Given the description of an element on the screen output the (x, y) to click on. 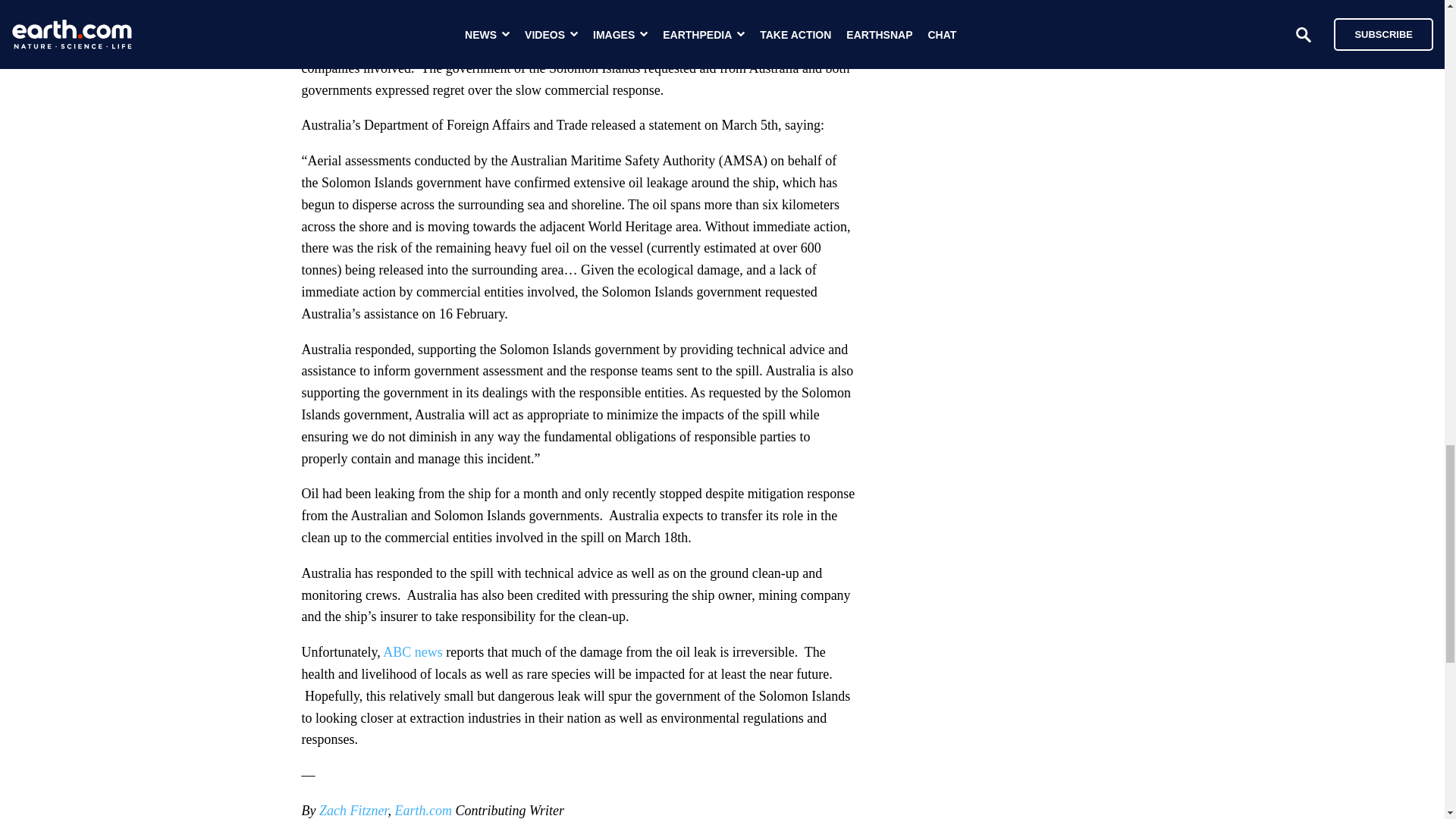
Earth.com (422, 810)
ABC news (412, 652)
Zach Fitzner (353, 810)
